Given the description of an element on the screen output the (x, y) to click on. 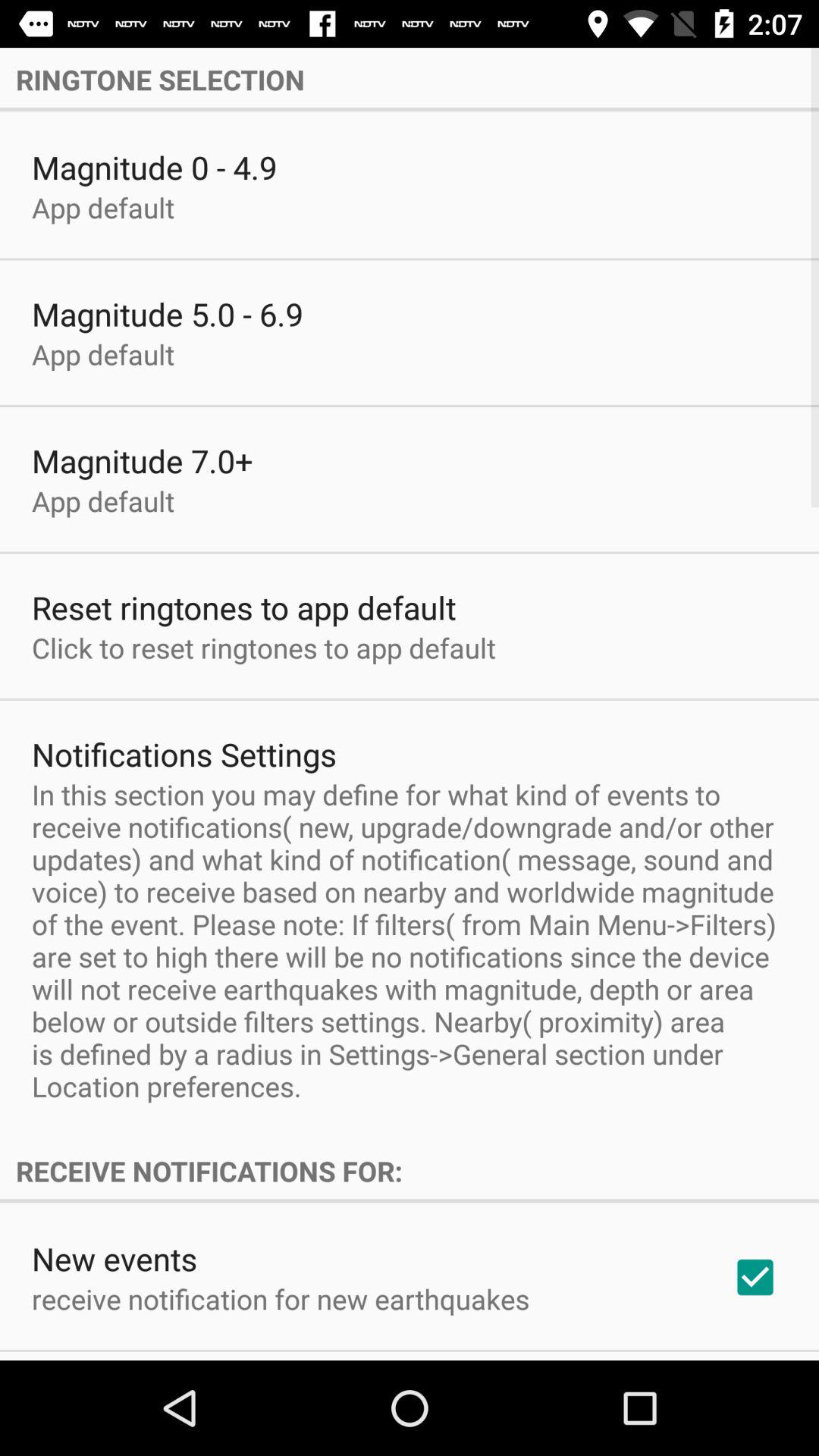
press app below the click to reset app (183, 753)
